Given the description of an element on the screen output the (x, y) to click on. 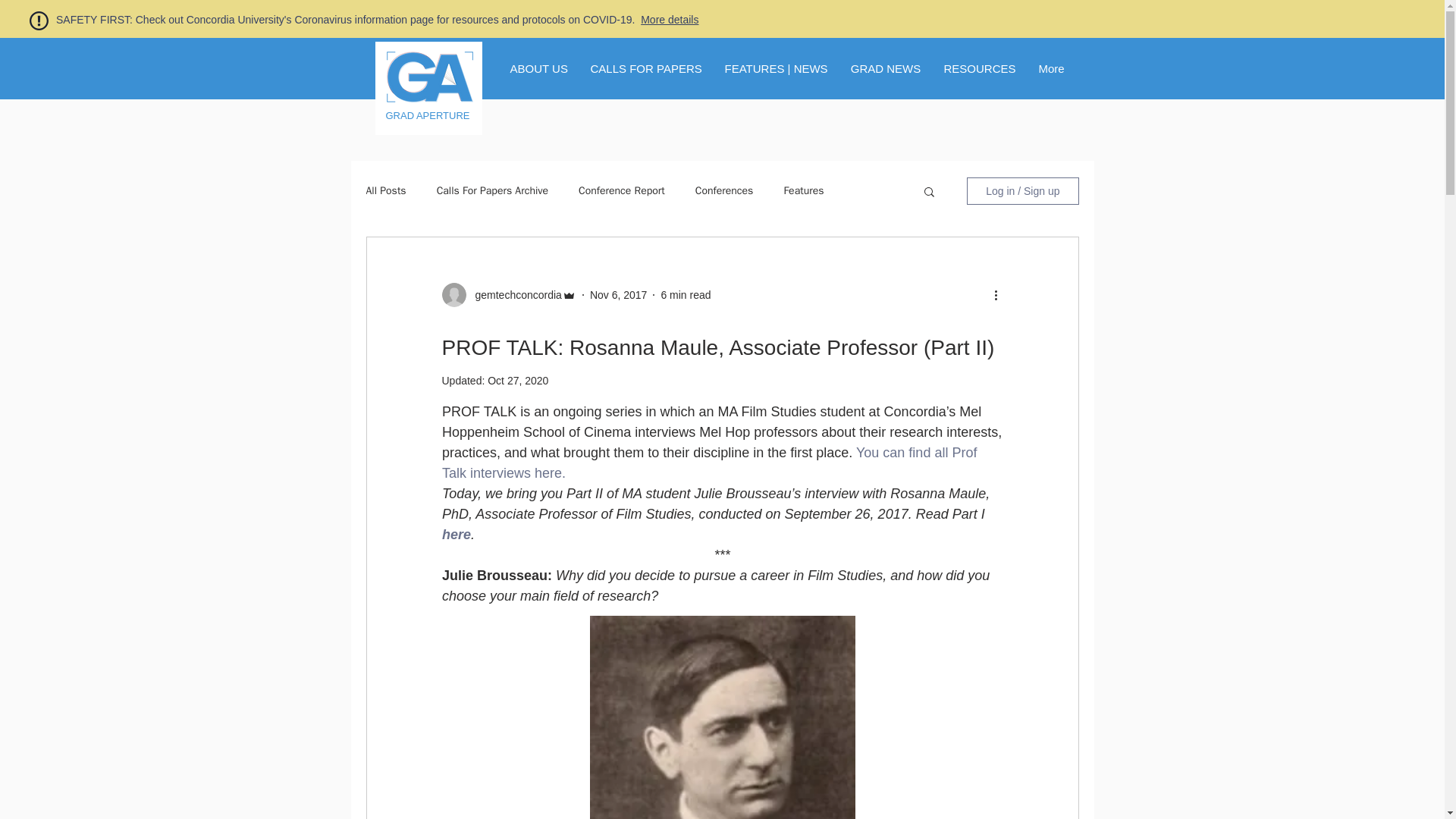
Nov 6, 2017 (618, 294)
All Posts (385, 191)
You can find all Prof Talk interviews here. (710, 462)
Conference Report (621, 191)
6 min read (685, 294)
here (455, 534)
Features (803, 191)
Oct 27, 2020 (517, 380)
More details (669, 19)
Conferences (724, 191)
